Given the description of an element on the screen output the (x, y) to click on. 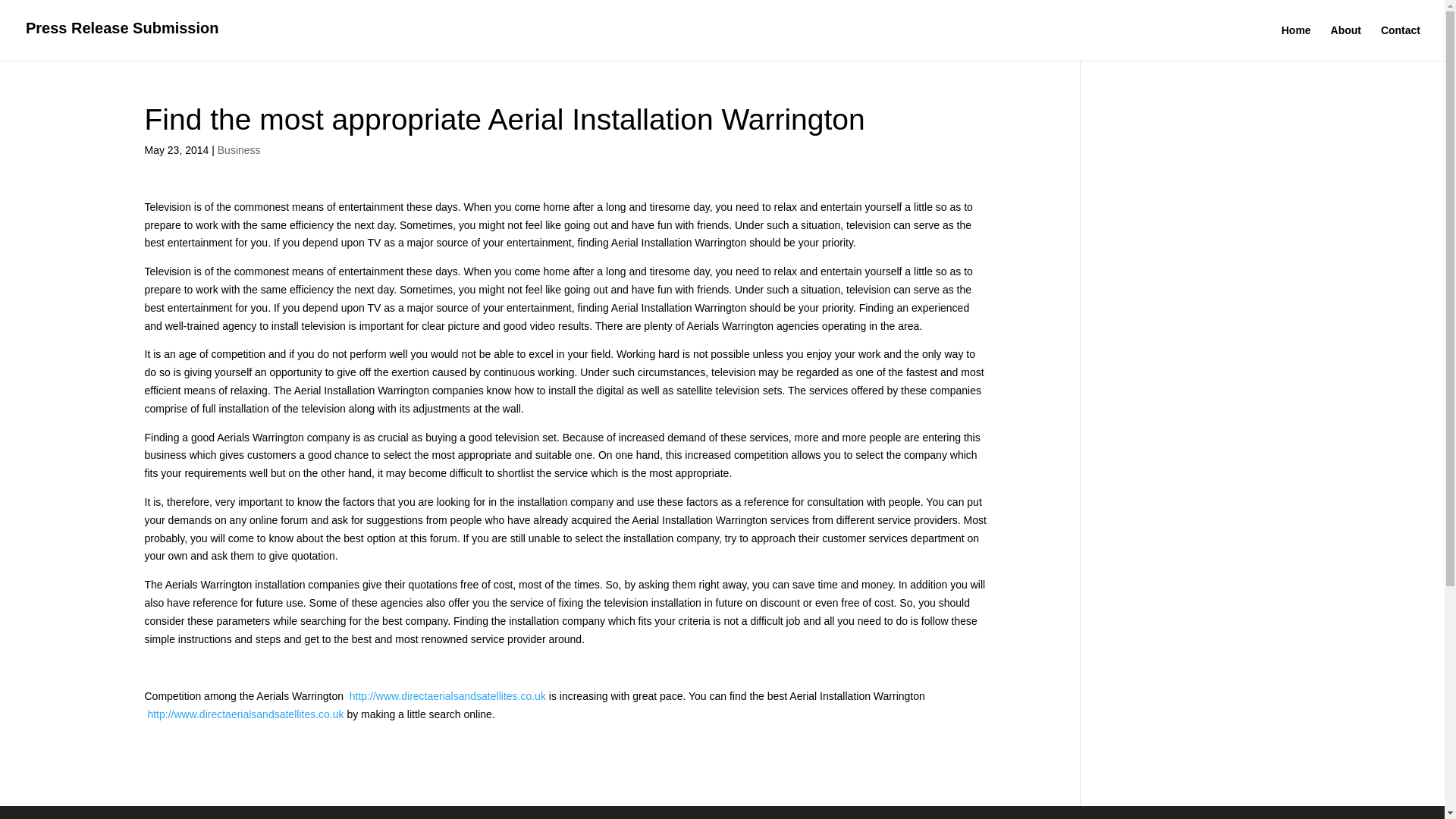
Business (238, 150)
Contact (1400, 42)
Press Release Submission (122, 29)
